Given the description of an element on the screen output the (x, y) to click on. 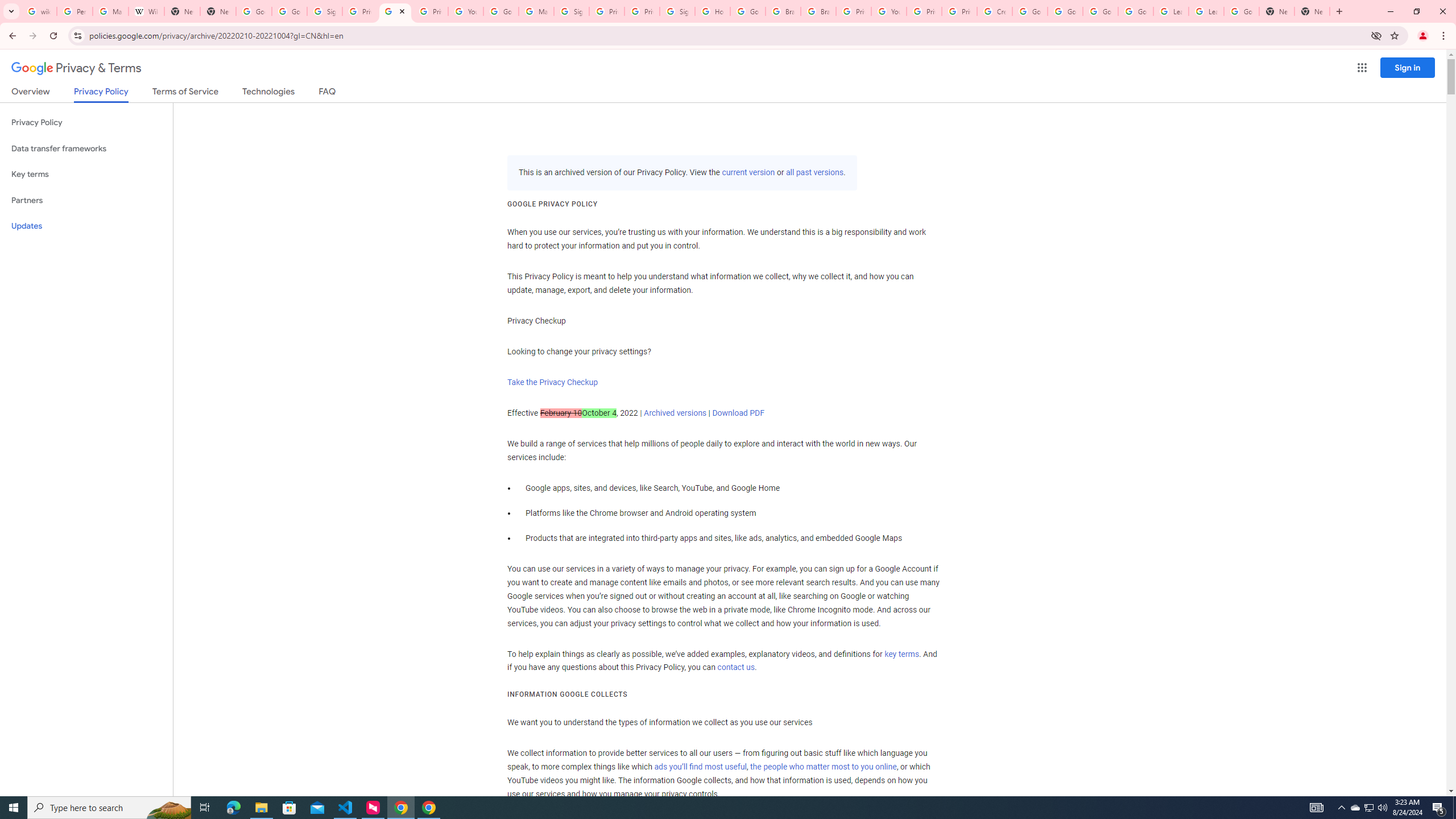
Take the Privacy Checkup (552, 381)
Key terms (86, 174)
Overview (30, 93)
Personalization & Google Search results - Google Search Help (74, 11)
Privacy Policy (86, 122)
Sign in - Google Accounts (571, 11)
all past versions (813, 172)
contact us (735, 667)
Archived versions (675, 412)
the people who matter most to you online (822, 766)
Download PDF (737, 412)
